Given the description of an element on the screen output the (x, y) to click on. 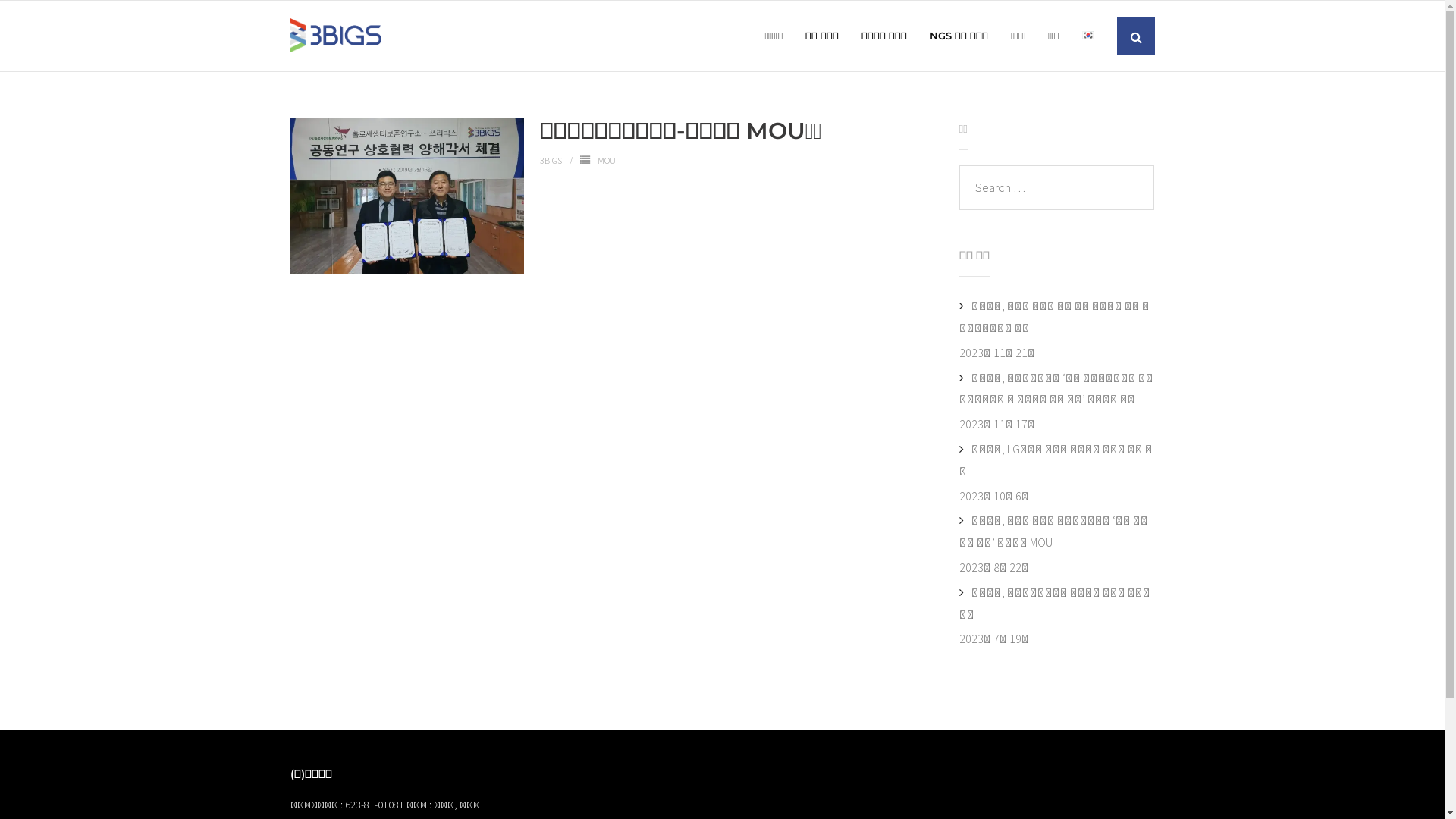
MOU Element type: text (606, 160)
Search Element type: text (44, 22)
Search Element type: text (40, 22)
3BIGS Element type: text (550, 160)
